Given the description of an element on the screen output the (x, y) to click on. 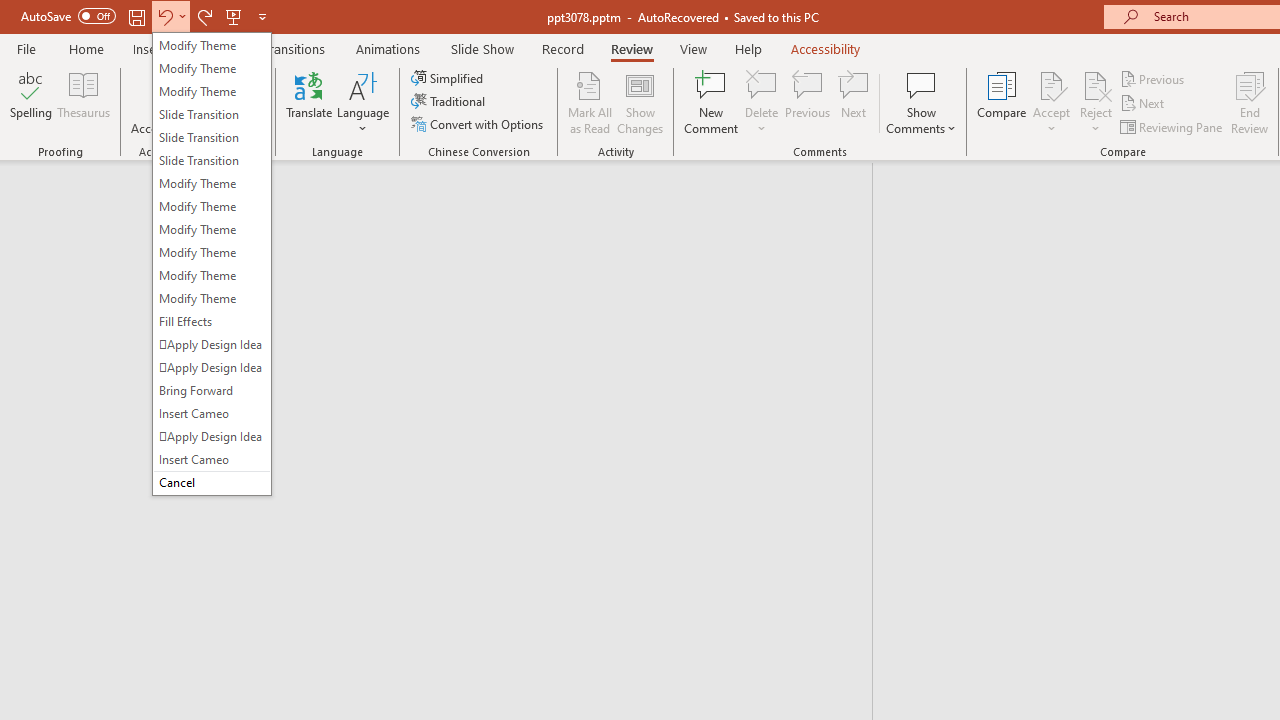
Next (1144, 103)
Show Comments (921, 102)
Convert with Options... (479, 124)
Show Changes (639, 102)
New Comment (711, 102)
Traditional (449, 101)
Language (363, 102)
Reject Change (1096, 84)
